Given the description of an element on the screen output the (x, y) to click on. 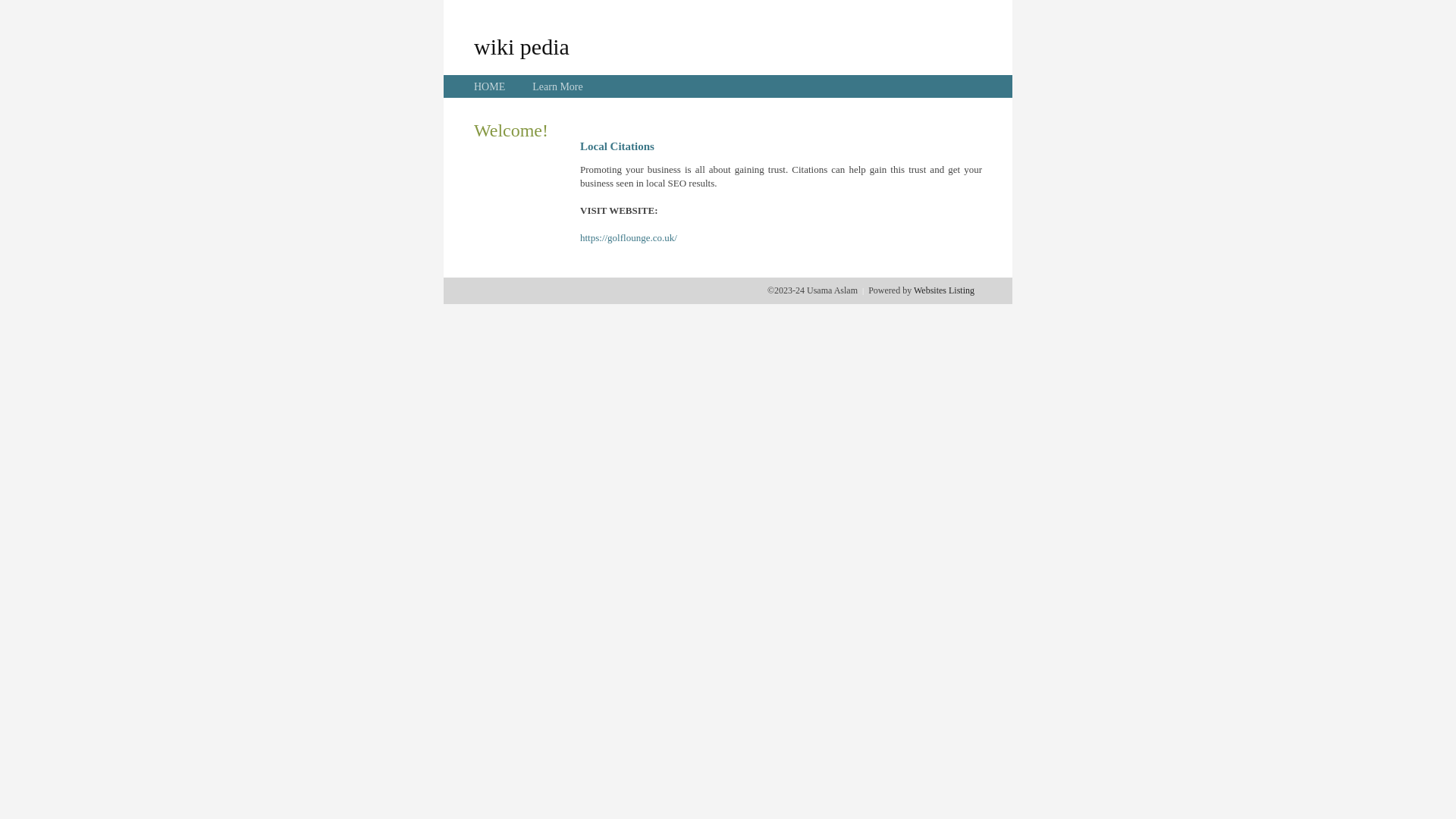
HOME Element type: text (489, 86)
https://golflounge.co.uk/ Element type: text (628, 237)
Learn More Element type: text (557, 86)
Websites Listing Element type: text (943, 290)
wiki pedia Element type: text (521, 46)
